Given the description of an element on the screen output the (x, y) to click on. 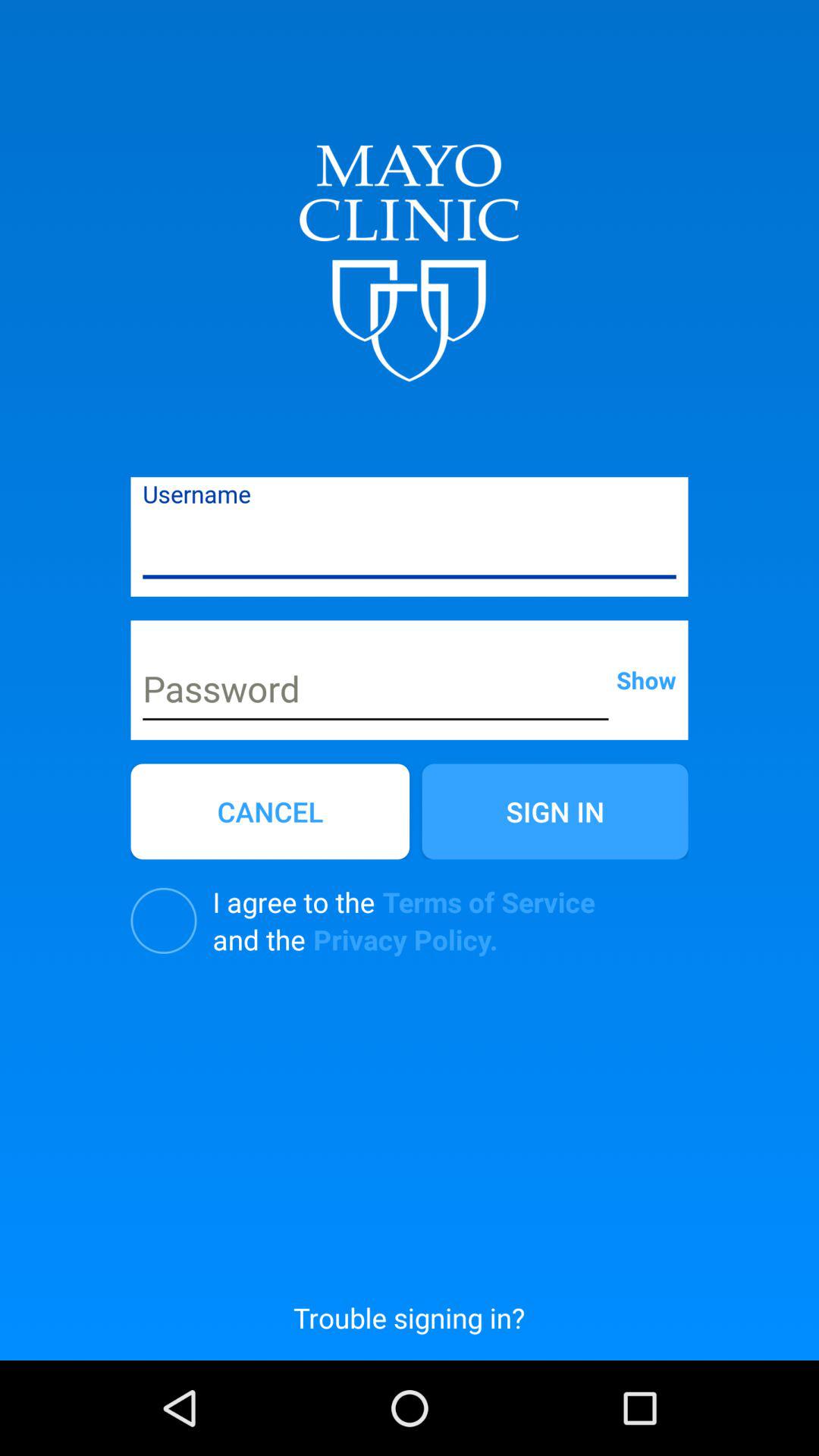
password (375, 690)
